Given the description of an element on the screen output the (x, y) to click on. 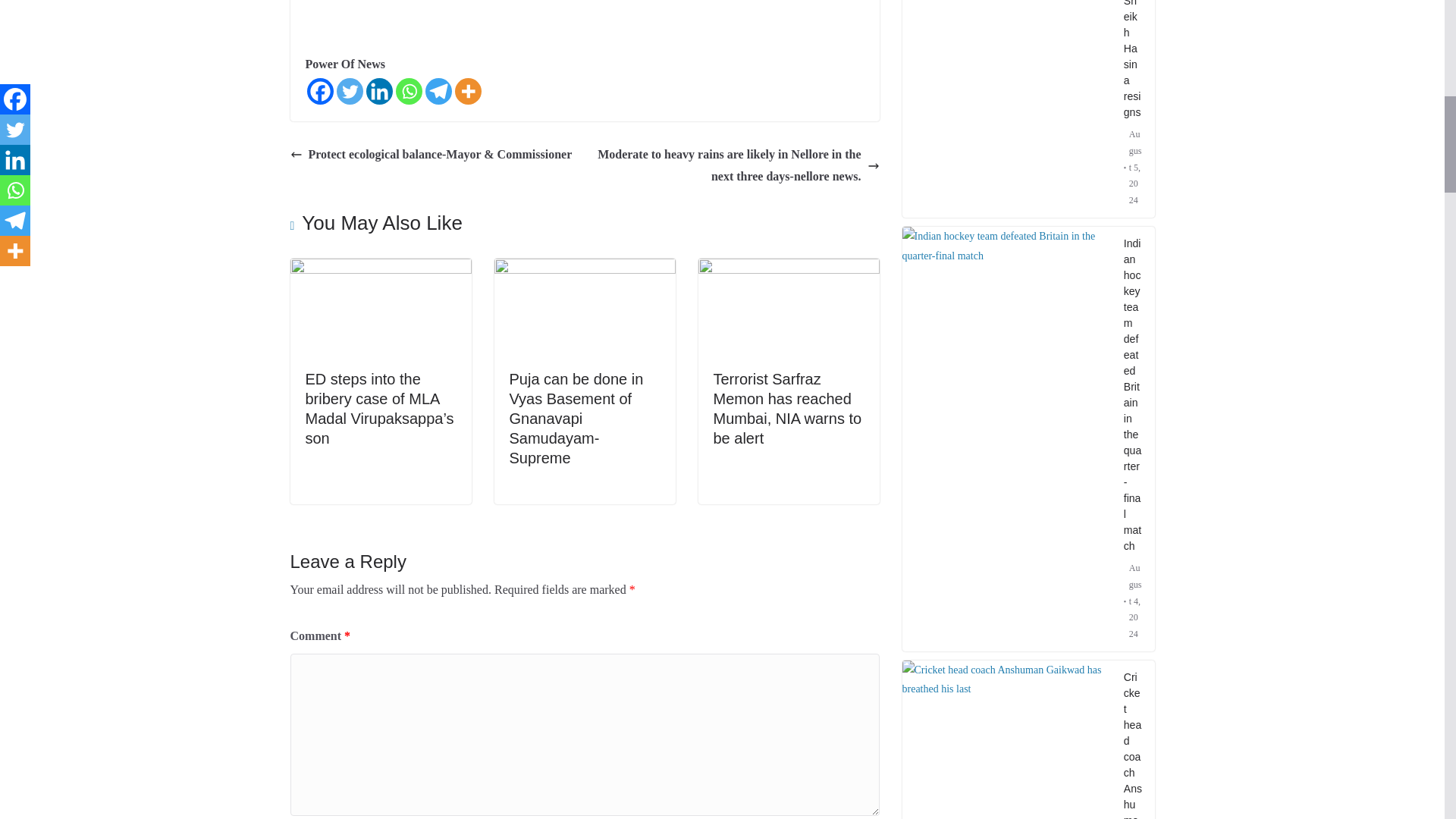
Linkedin (378, 90)
Twitter (349, 90)
More (467, 90)
Facebook (319, 90)
Whatsapp (409, 90)
Telegram (438, 90)
